Given the description of an element on the screen output the (x, y) to click on. 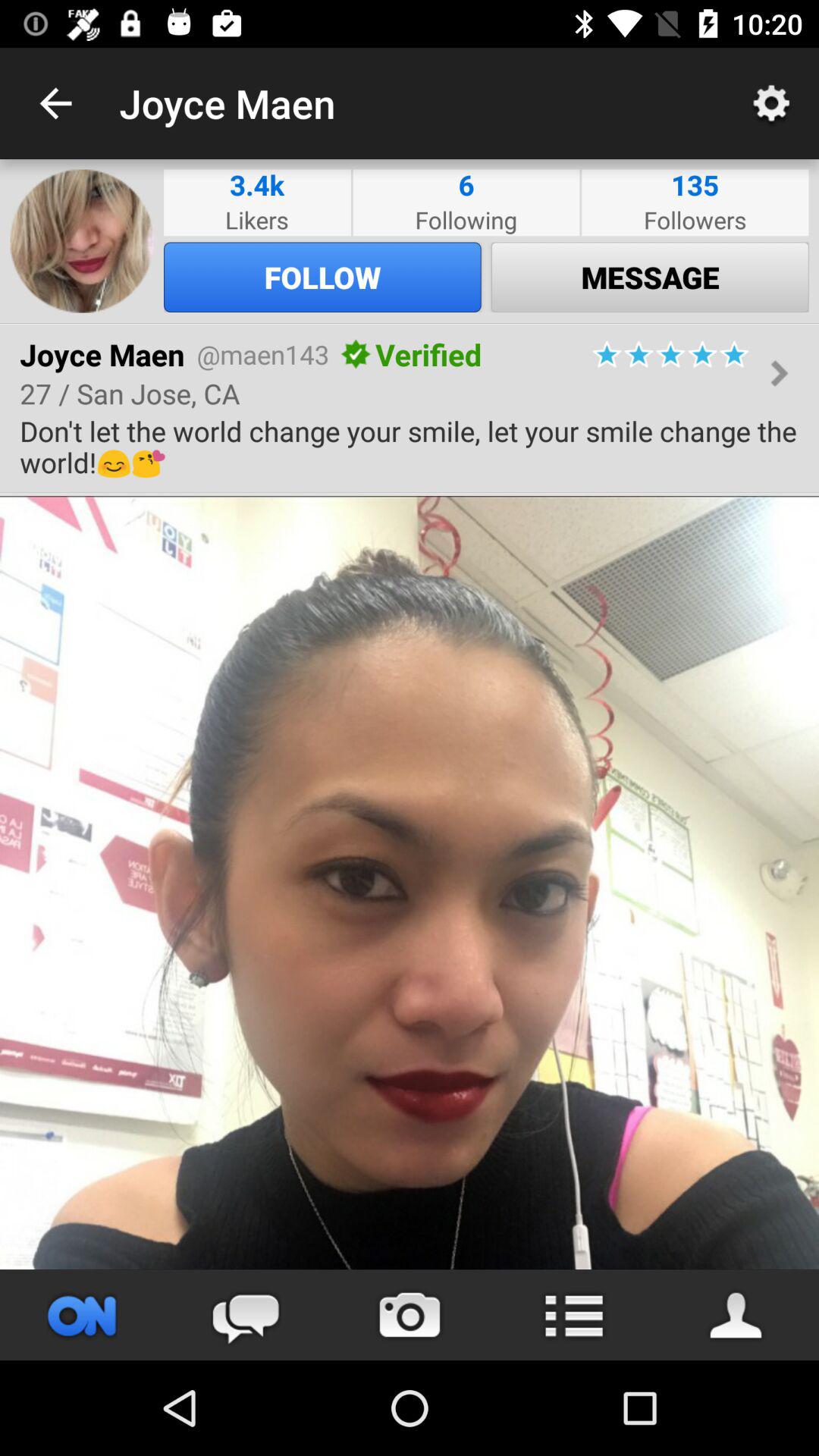
go to profile (81, 1315)
